Given the description of an element on the screen output the (x, y) to click on. 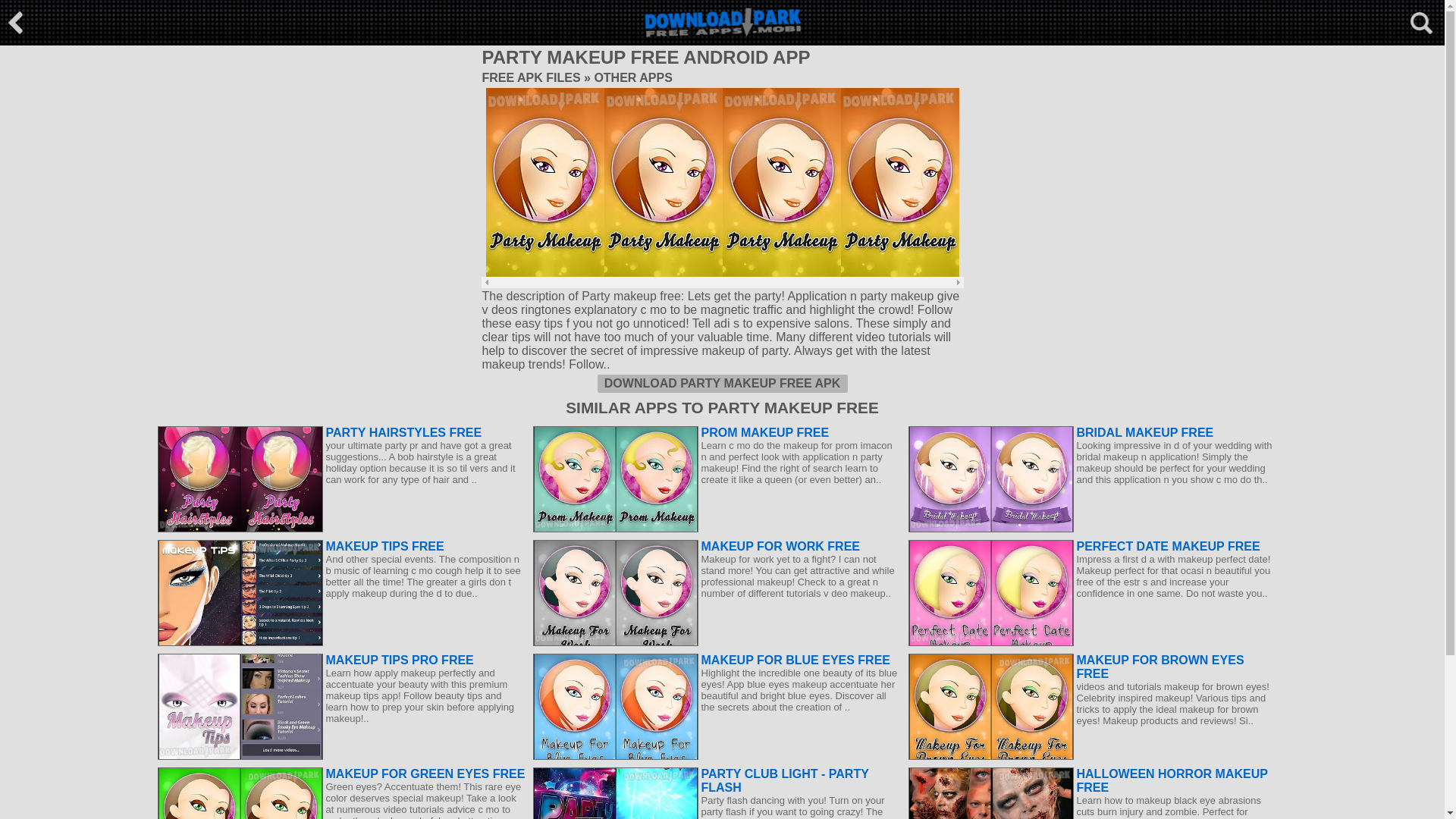
DOWNLOAD PARTY MAKEUP FREE APK (721, 383)
PERFECT DATE MAKEUP FREE (1092, 546)
MAKEUP TIPS PRO FREE (341, 660)
MAKEUP FOR BROWN EYES FREE (1092, 666)
PARTY HAIRSTYLES FREE (341, 432)
HALLOWEEN HORROR MAKEUP FREE (1092, 780)
MAKEUP FOR WORK FREE (715, 546)
BRIDAL MAKEUP FREE (1092, 432)
MAKEUP FOR GREEN EYES FREE (341, 774)
MAKEUP TIPS FREE (341, 546)
MAKEUP FOR BLUE EYES FREE (715, 660)
PARTY CLUB LIGHT - PARTY FLASH (715, 780)
PROM MAKEUP FREE (715, 432)
